Given the description of an element on the screen output the (x, y) to click on. 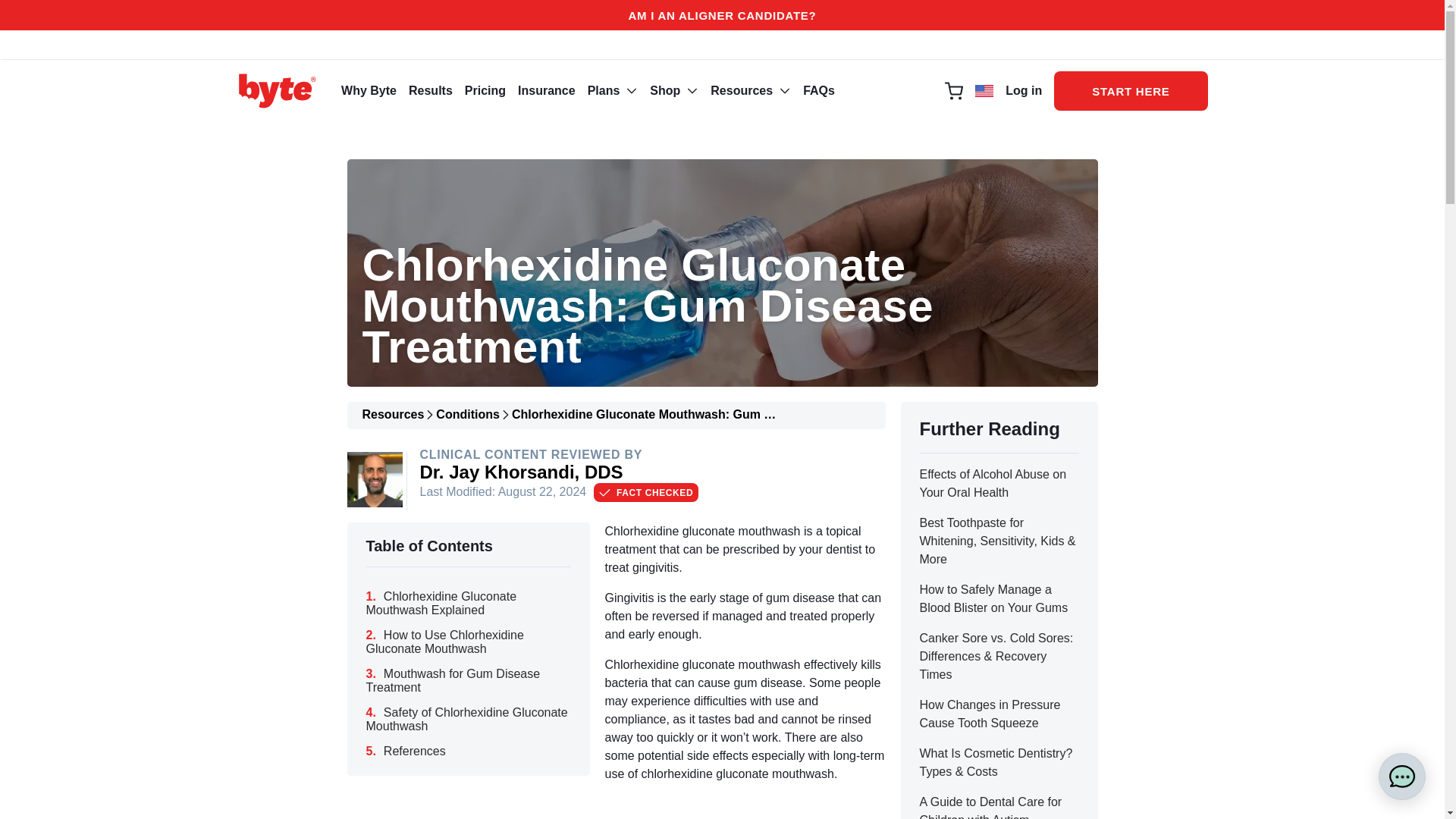
Results (430, 90)
ChevronRight Icon (505, 414)
ChevronDown Icon (691, 91)
Log in (646, 492)
navigation-main (1024, 90)
ChevronDown Icon (631, 90)
START HERE (631, 91)
ChevronDown Icon (1130, 90)
